Given the description of an element on the screen output the (x, y) to click on. 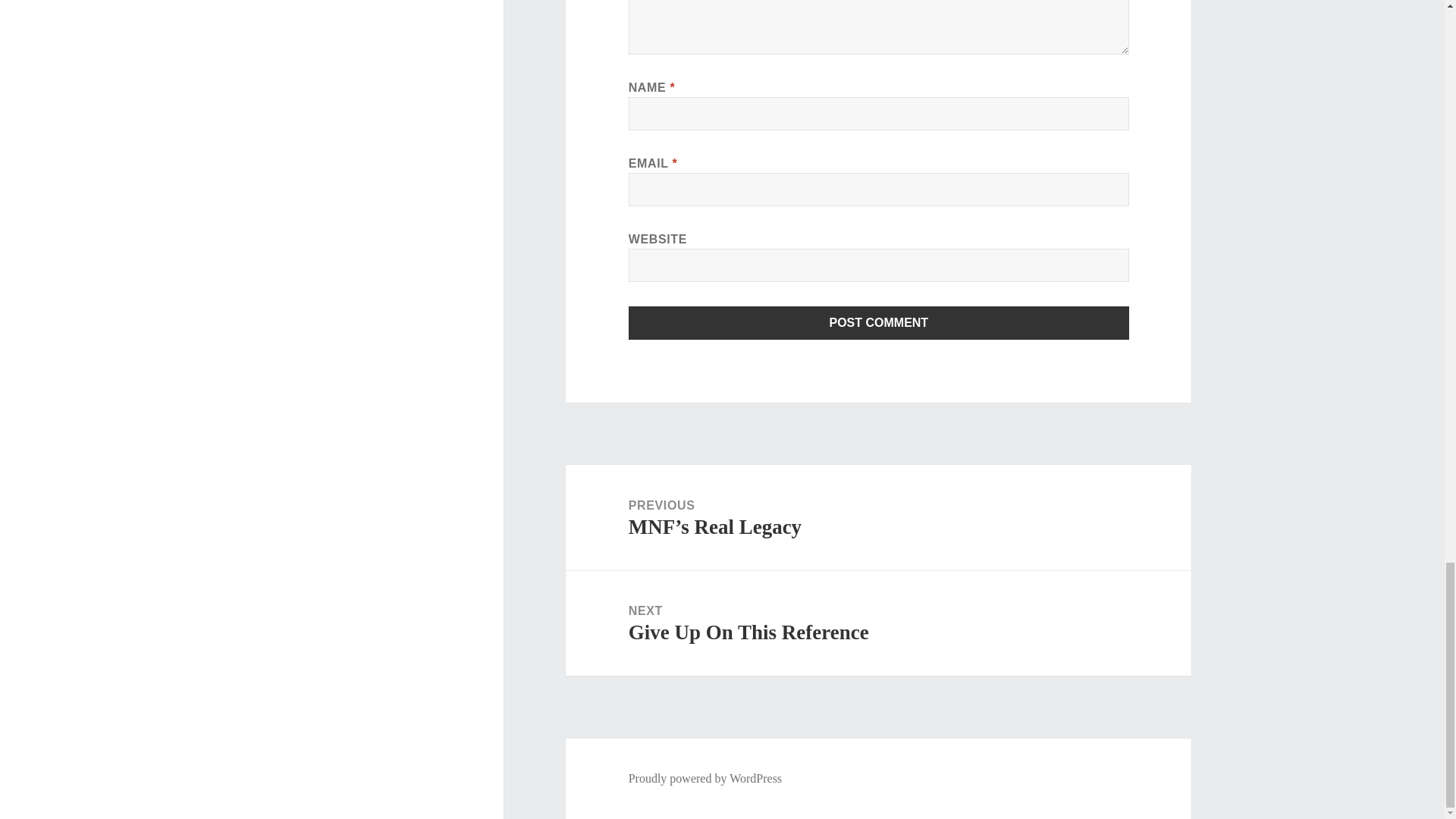
Proudly powered by WordPress (704, 778)
Post Comment (878, 623)
Post Comment (878, 322)
